Given the description of an element on the screen output the (x, y) to click on. 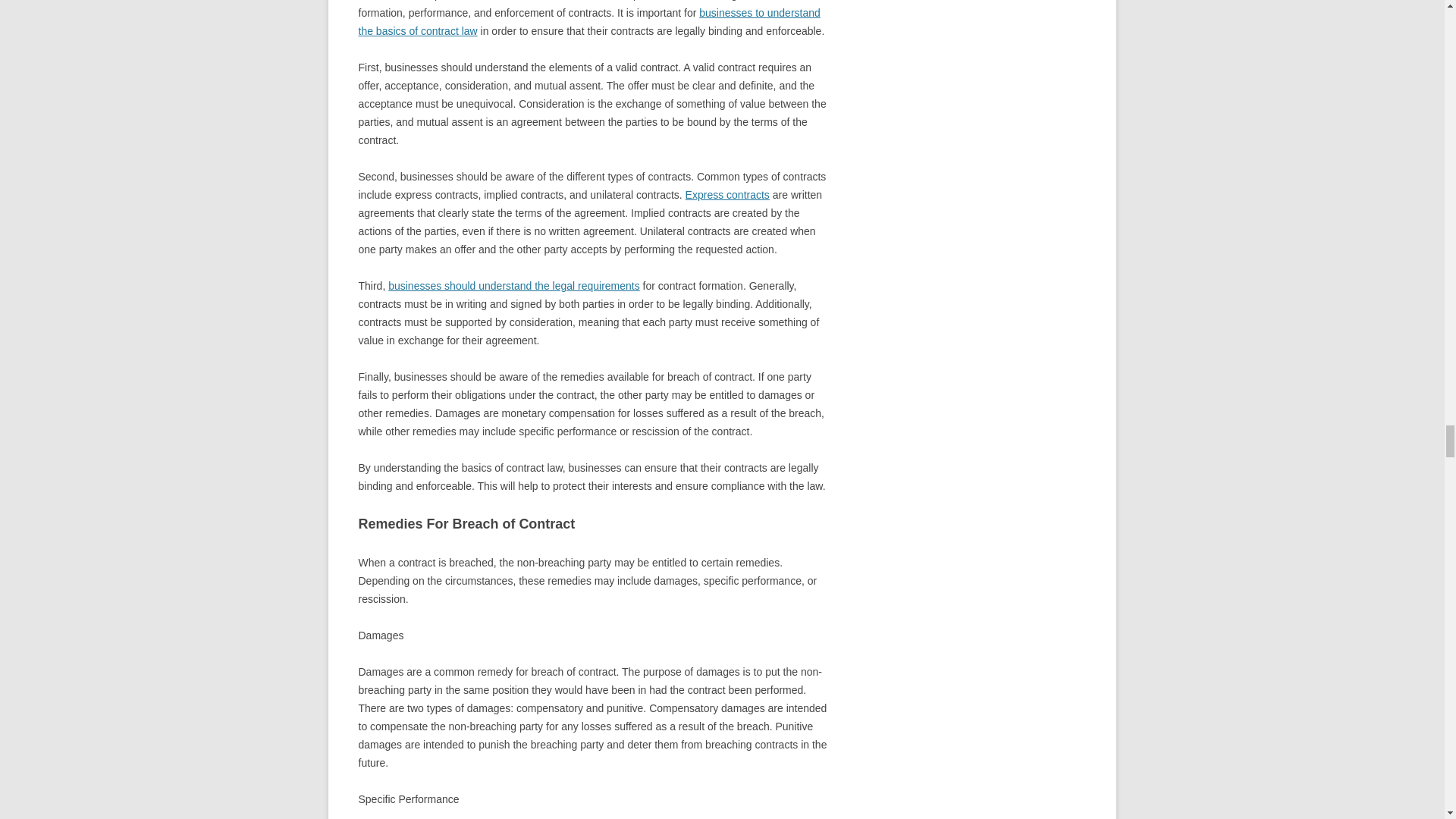
Express contracts (727, 194)
businesses should understand the legal requirements (514, 285)
businesses to understand the basics of contract law (588, 21)
